Given the description of an element on the screen output the (x, y) to click on. 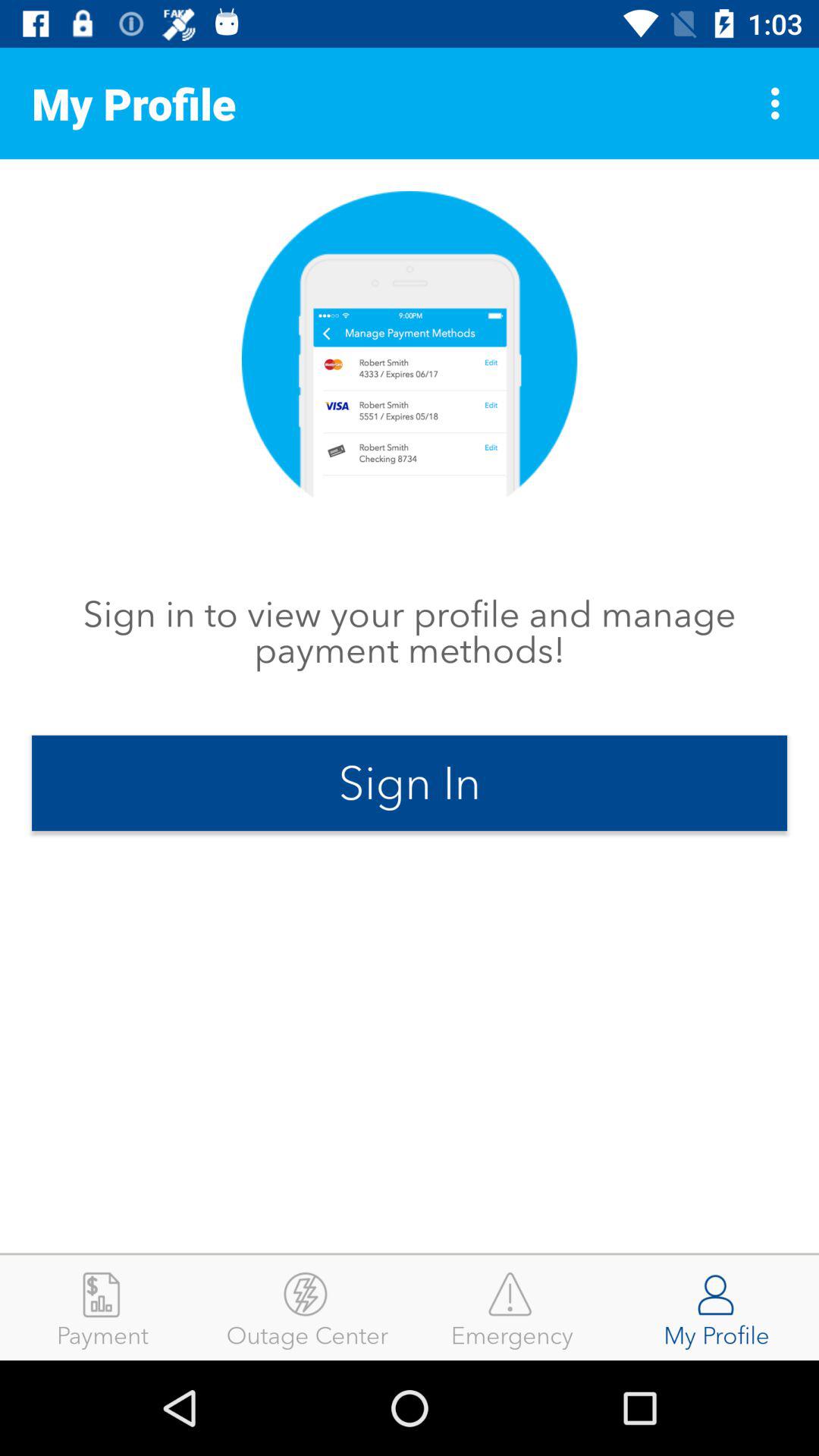
launch item next to the emergency icon (306, 1307)
